Given the description of an element on the screen output the (x, y) to click on. 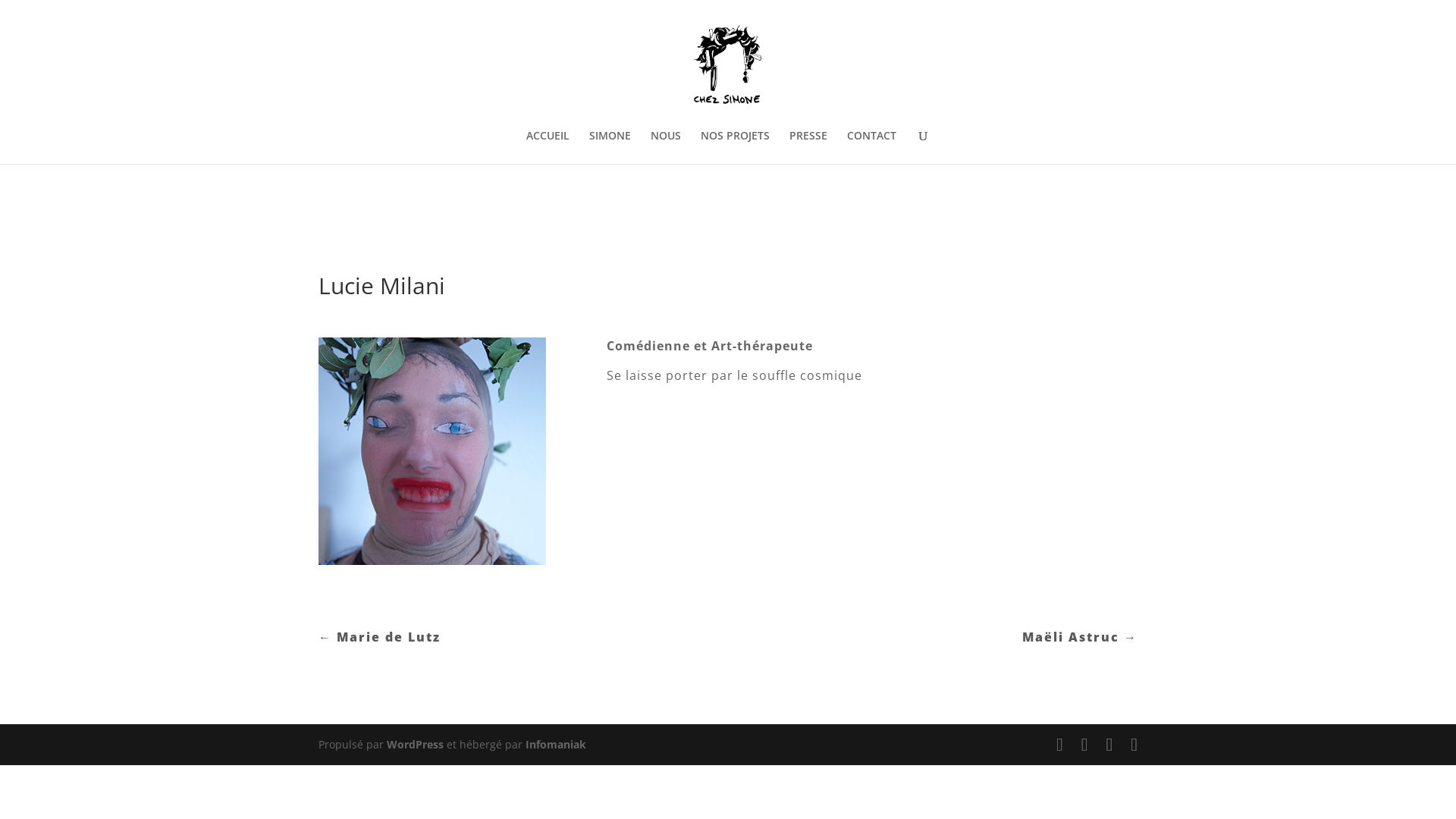
NOS PROJETS Element type: text (734, 146)
ACCUEIL Element type: text (547, 146)
CONTACT Element type: text (871, 146)
PRESSE Element type: text (808, 146)
fdfd Element type: hover (432, 450)
SIMONE Element type: text (609, 146)
WordPress Element type: text (414, 744)
NOUS Element type: text (665, 146)
Infomaniak Element type: text (555, 744)
